Given the description of an element on the screen output the (x, y) to click on. 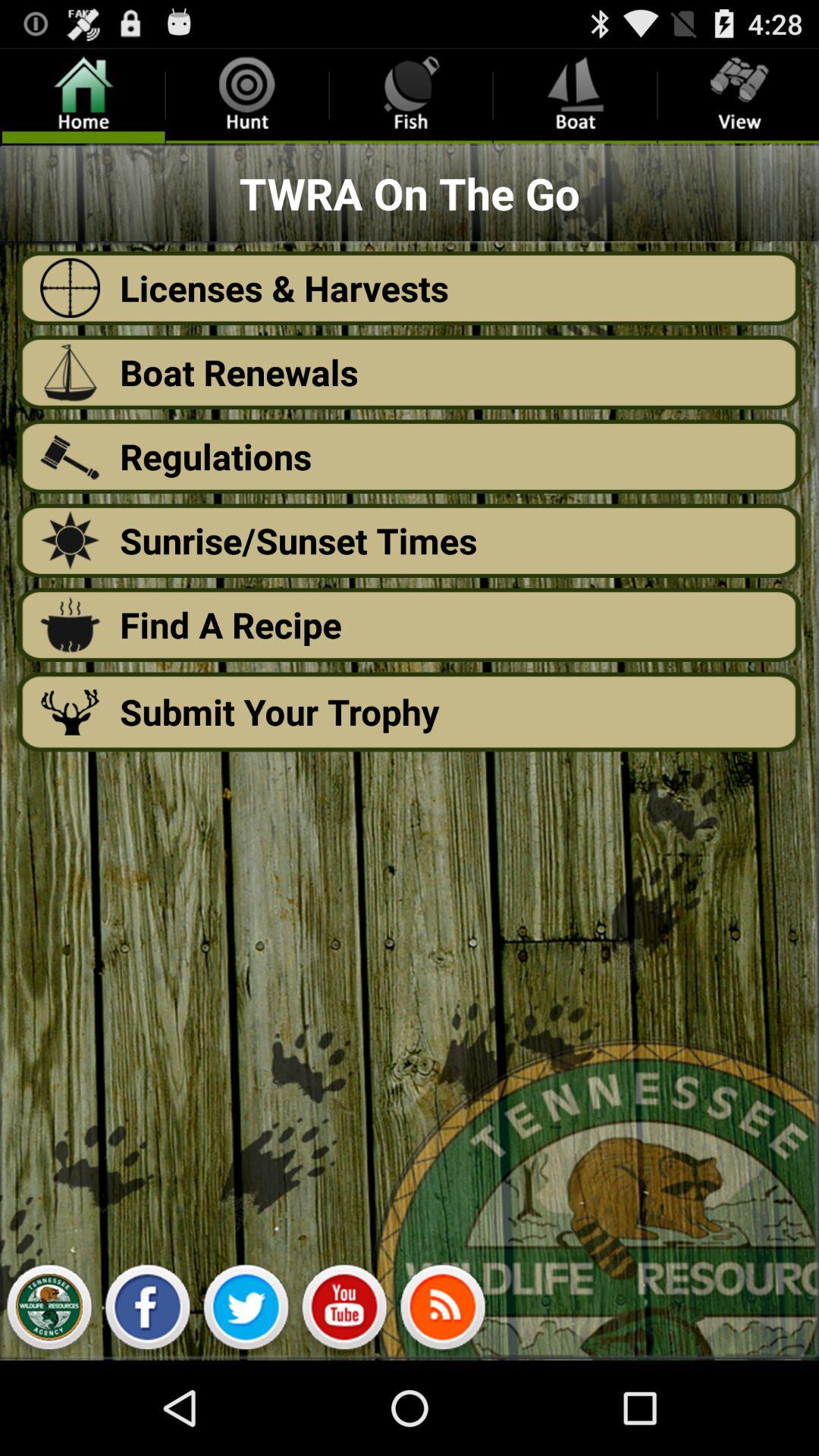
press the item below the submit your trophy item (442, 1311)
